Given the description of an element on the screen output the (x, y) to click on. 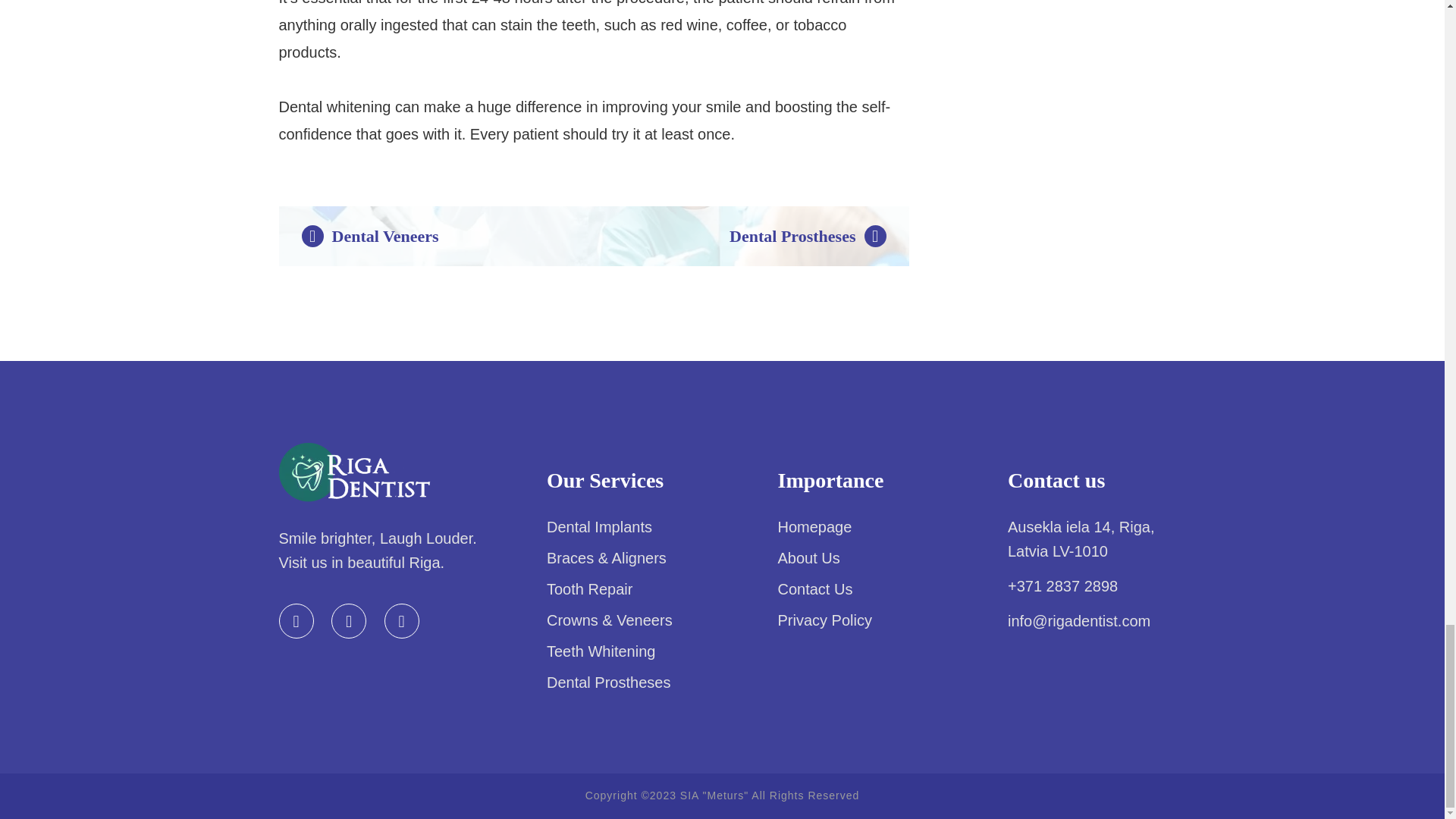
Dental Prostheses (807, 236)
Privacy Policy (824, 619)
Dental Prostheses (608, 682)
Contact Us (815, 588)
Teeth Whitening (601, 651)
Homepage (814, 526)
About Us (808, 557)
Tooth Repair (589, 588)
Dental Implants (599, 526)
Dental Veneers (370, 236)
